Given the description of an element on the screen output the (x, y) to click on. 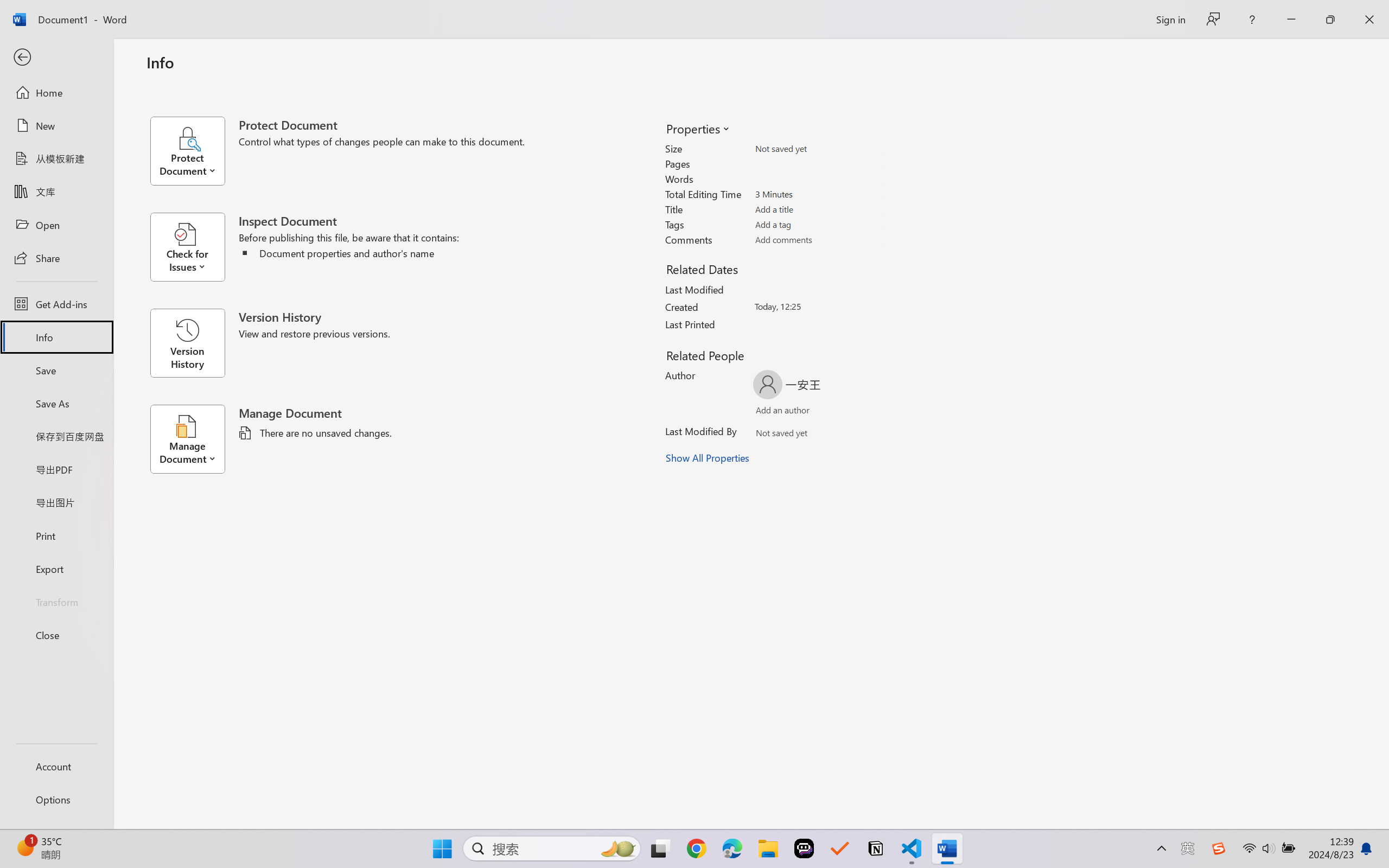
Save As (56, 403)
New (56, 125)
Size (818, 148)
Title (818, 209)
Account (56, 765)
Add an author (772, 411)
Info (56, 337)
Show All Properties (707, 457)
Not saved yet (772, 434)
